Given the description of an element on the screen output the (x, y) to click on. 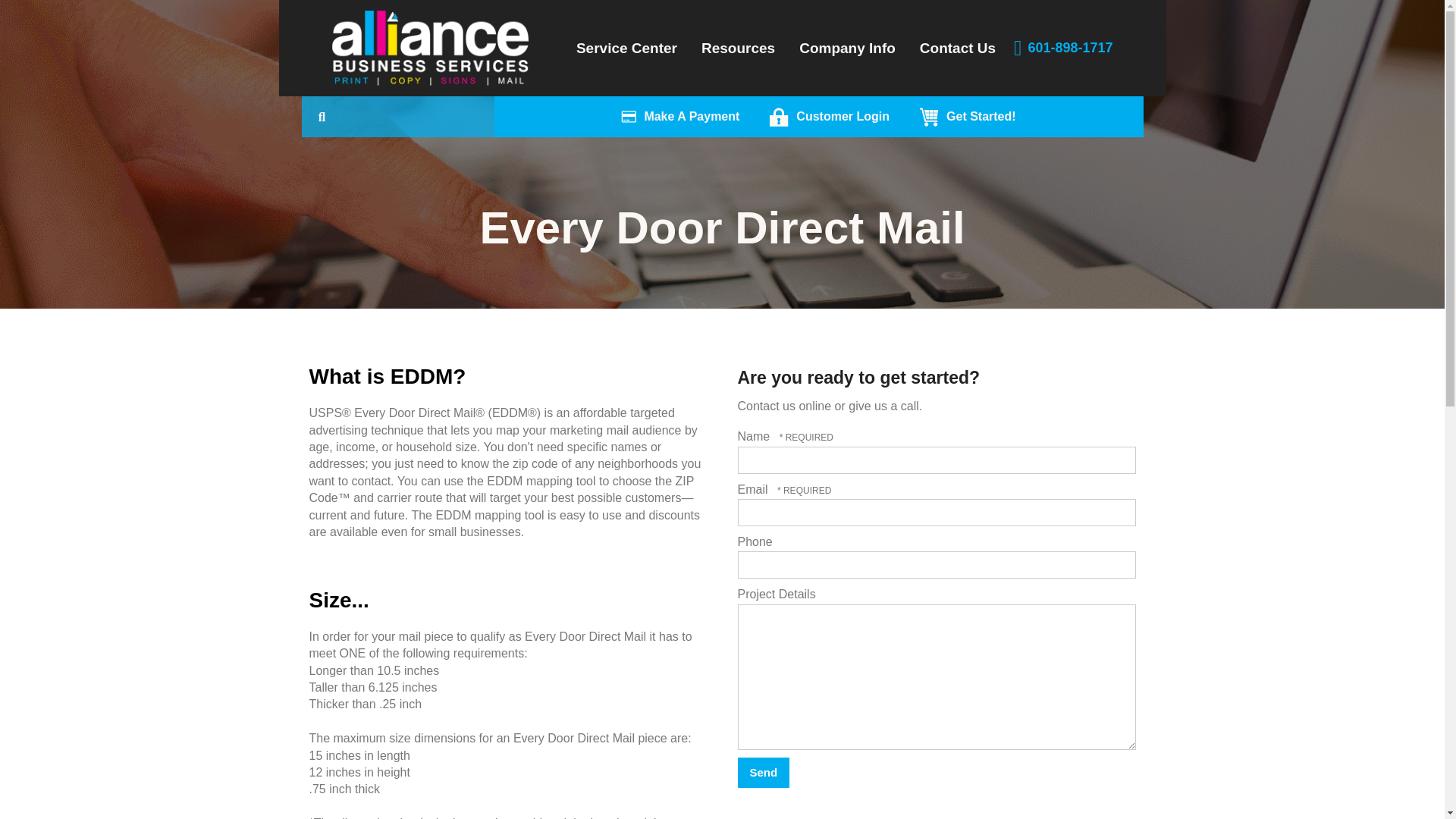
Company Info (847, 48)
Resources (737, 48)
logo (430, 48)
Service Center (626, 48)
Send (762, 772)
